Given the description of an element on the screen output the (x, y) to click on. 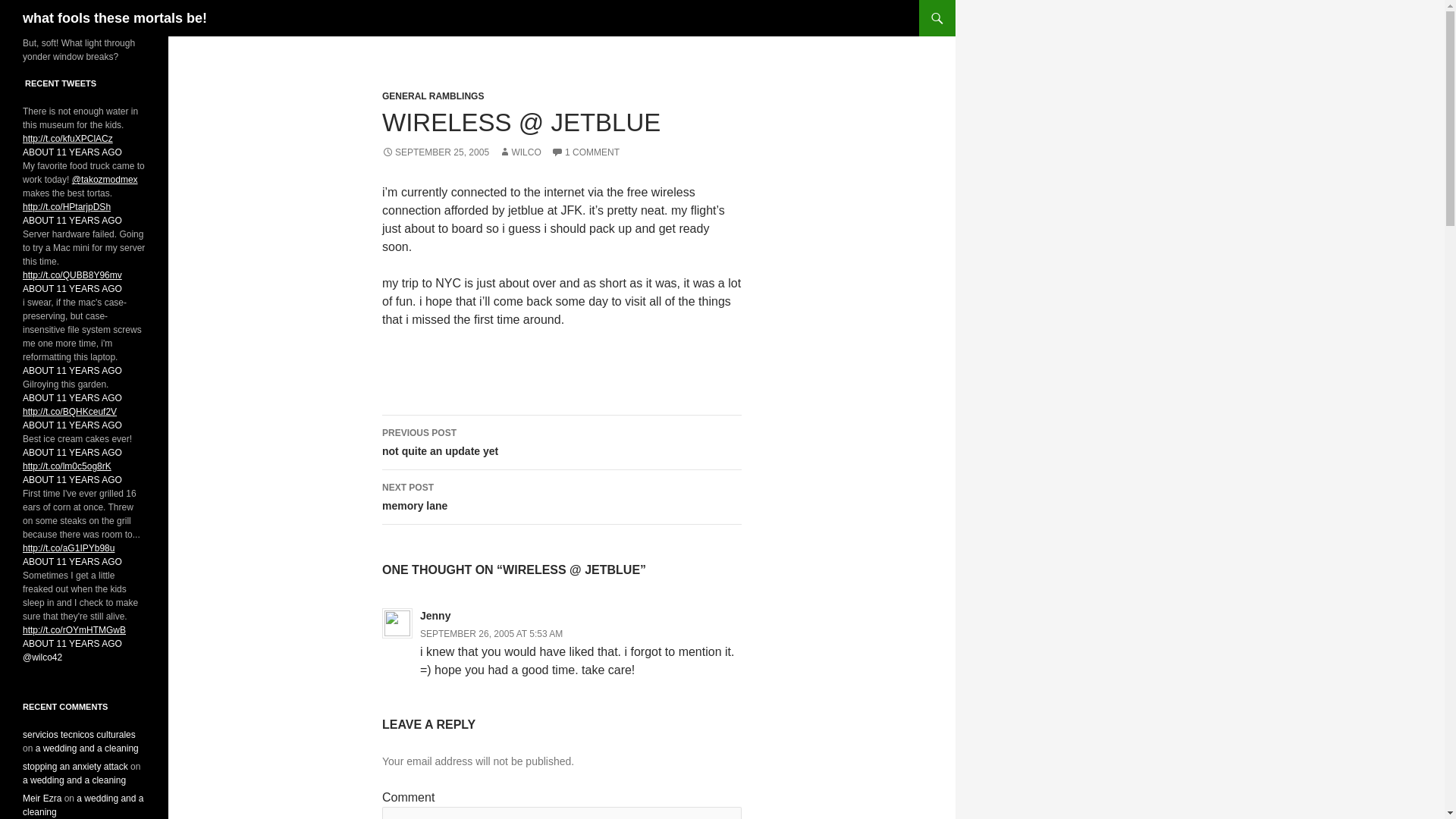
GENERAL RAMBLINGS (432, 95)
ABOUT 11 YEARS AGO (72, 425)
1 COMMENT (585, 152)
ABOUT 11 YEARS AGO (72, 452)
a wedding and a cleaning (86, 747)
ABOUT 11 YEARS AGO (72, 480)
Meir Ezra (42, 798)
servicios tecnicos culturales (79, 734)
WILCO (519, 152)
ABOUT 11 YEARS AGO (72, 398)
ABOUT 11 YEARS AGO (561, 442)
a wedding and a cleaning (72, 152)
ABOUT 11 YEARS AGO (74, 779)
